Given the description of an element on the screen output the (x, y) to click on. 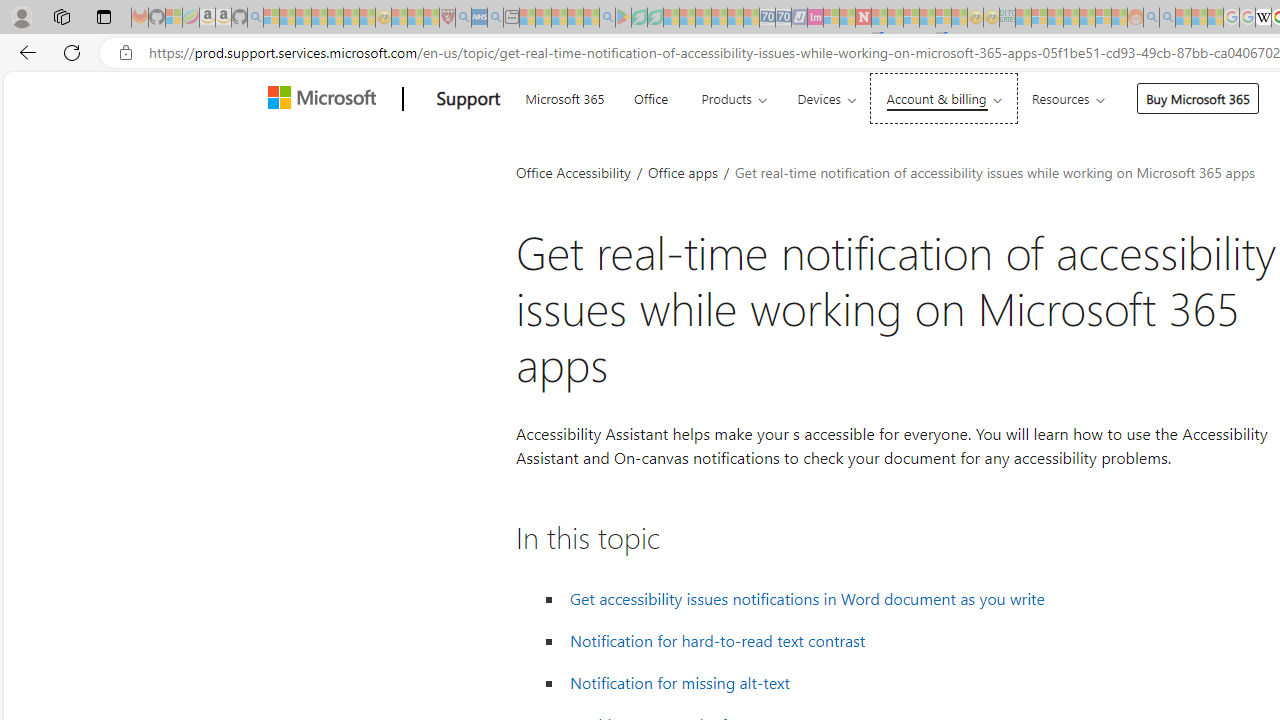
google - Search - Sleeping (607, 17)
Buy Microsoft 365 (1197, 97)
Expert Portfolios - Sleeping (1071, 17)
Office (650, 96)
Utah sues federal government - Search - Sleeping (1167, 17)
 Notification for missing alt-text (679, 682)
